Given the description of an element on the screen output the (x, y) to click on. 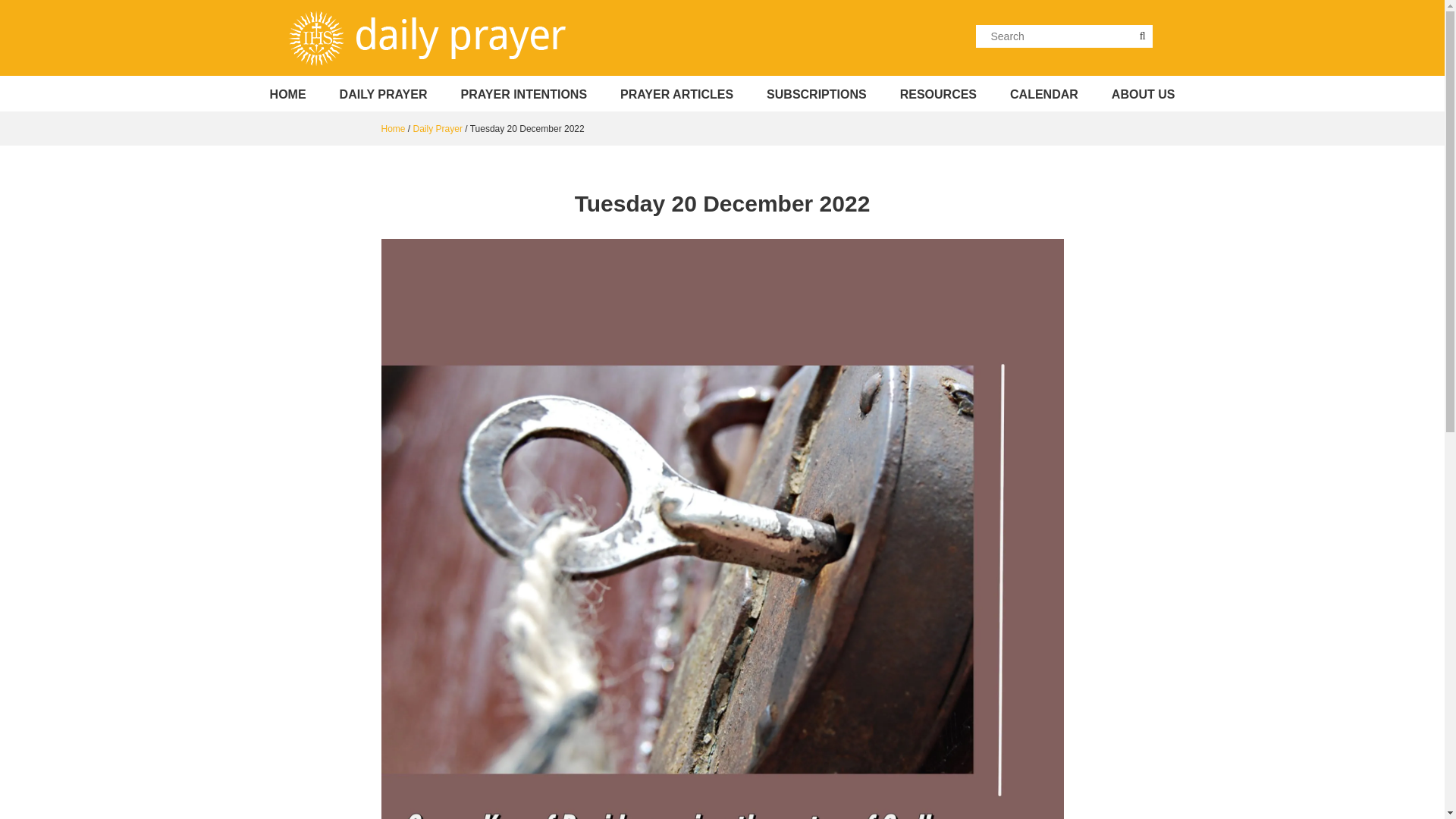
Go to Daily Prayer. (438, 128)
SUBSCRIPTIONS (816, 94)
RESOURCES (937, 94)
Go to Daily Prayer. (392, 128)
Home (288, 94)
Daily Prayer (383, 94)
HOME (288, 94)
PRAYER ARTICLES (676, 94)
Prayer Intentions (524, 94)
ABOUT US (1143, 94)
Resources (937, 94)
DAILY PRAYER (383, 94)
Subscriptions (816, 94)
Prayer Articles (676, 94)
Daily Prayer (438, 128)
